Given the description of an element on the screen output the (x, y) to click on. 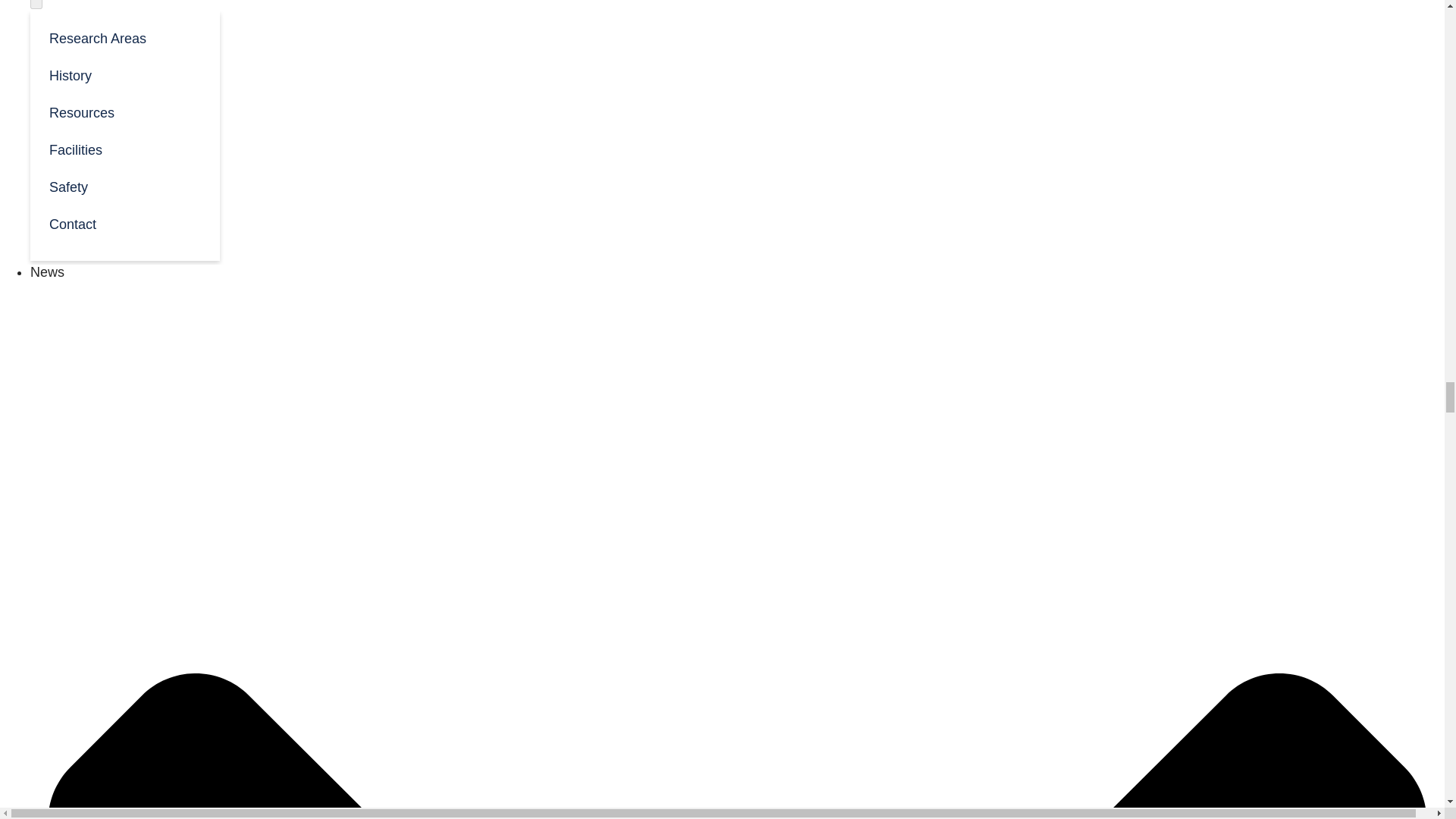
Contact (125, 222)
History (125, 74)
Facilities (125, 148)
Research Areas (125, 37)
Resources (125, 111)
Safety (125, 185)
News (47, 272)
